Given the description of an element on the screen output the (x, y) to click on. 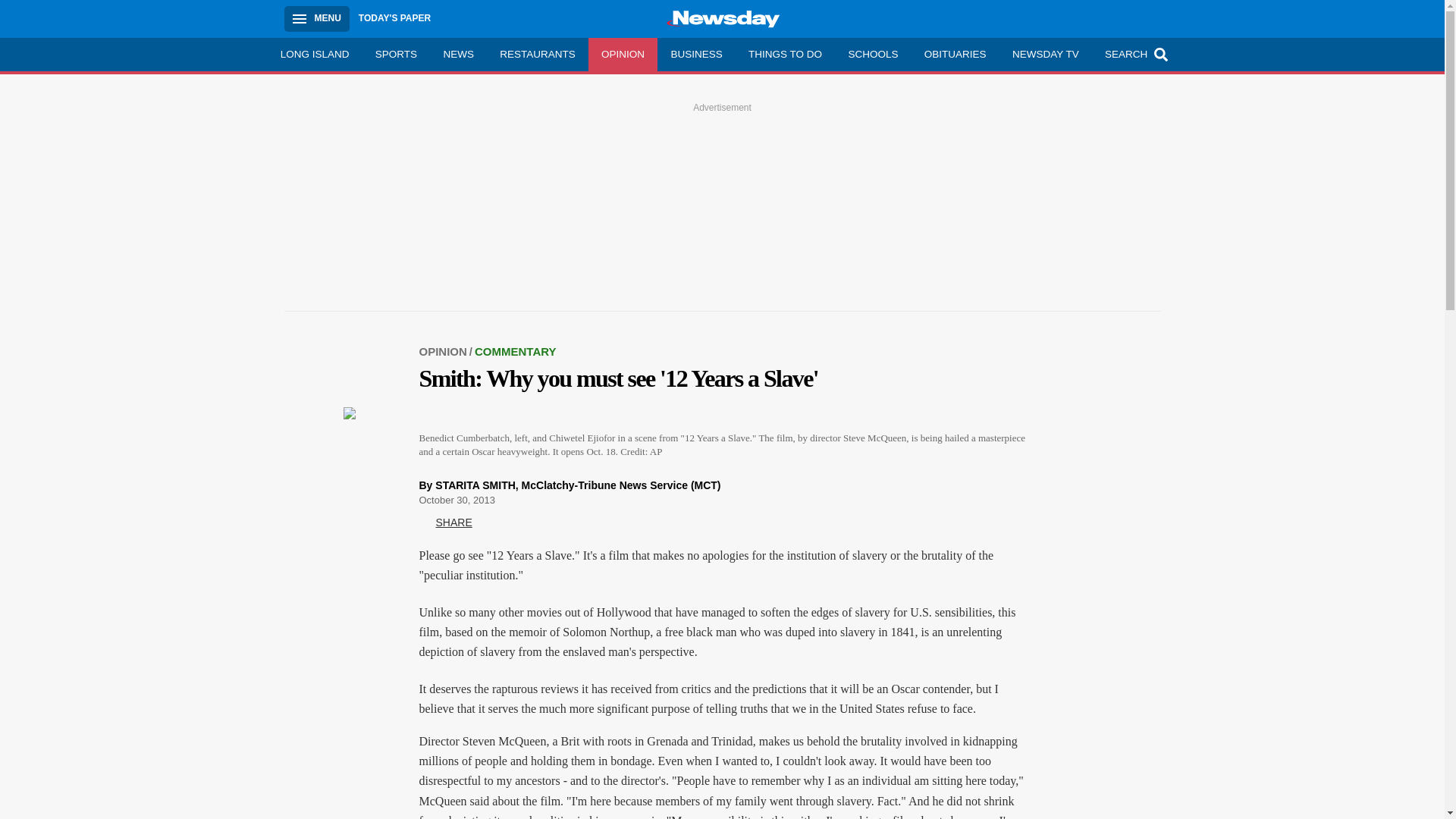
BUSINESS (696, 54)
OBITUARIES (954, 54)
MENU (316, 18)
OPINION (446, 350)
THINGS TO DO (784, 54)
SHARE (445, 522)
SPORTS (396, 54)
COMMENTARY (515, 350)
TODAY'S PAPER (394, 18)
SCHOOLS (872, 54)
NEWS (457, 54)
OPINION (623, 54)
LONG ISLAND (313, 54)
SEARCH (1134, 54)
RESTAURANTS (537, 54)
